Given the description of an element on the screen output the (x, y) to click on. 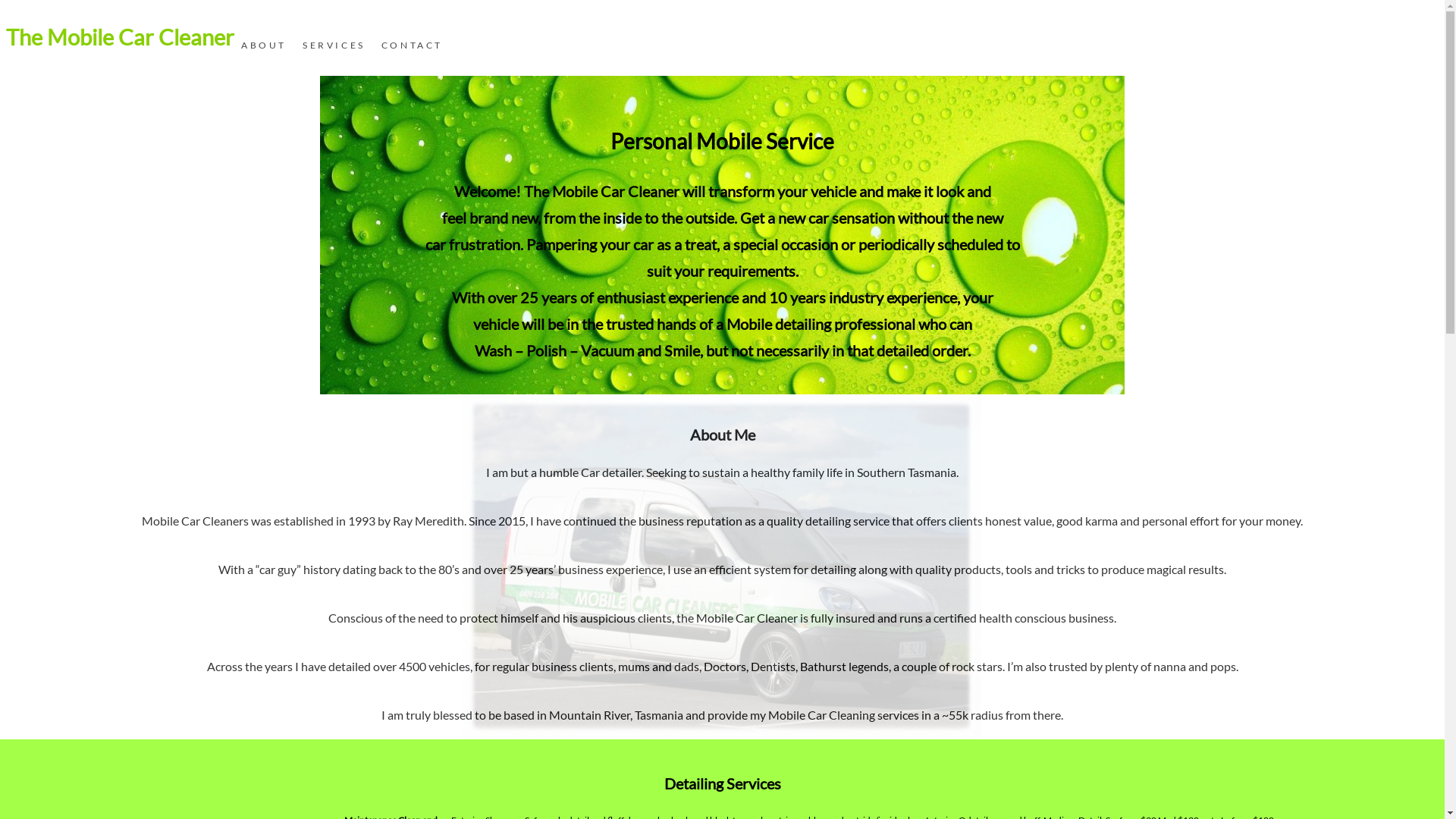
ABOUT Element type: text (263, 44)
SERVICES Element type: text (333, 44)
CONTACT Element type: text (411, 44)
